Given the description of an element on the screen output the (x, y) to click on. 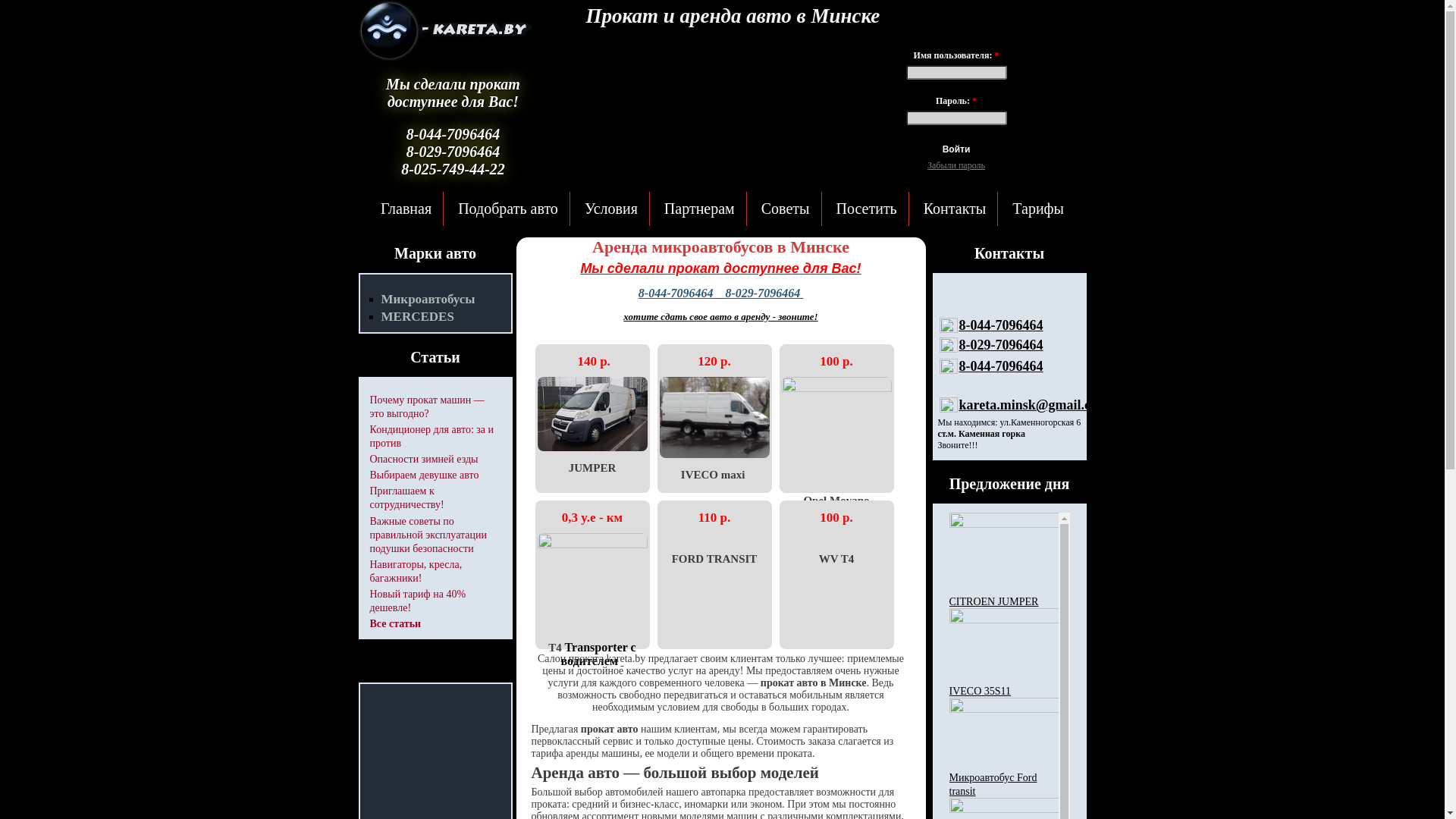
kareta.minsk@gmail.com Element type: text (1032, 404)
IVECO 35S11 Element type: text (980, 690)
8-044-7096464 Element type: text (675, 292)
8-044-7096464 Element type: text (1000, 365)
8-029-7096464 Element type: text (1000, 344)
8-044-7096464 Element type: text (1000, 324)
MERCEDES Element type: text (416, 316)
8-029-7096464 Element type: text (762, 292)
CITROEN JUMPER Element type: text (993, 601)
